Given the description of an element on the screen output the (x, y) to click on. 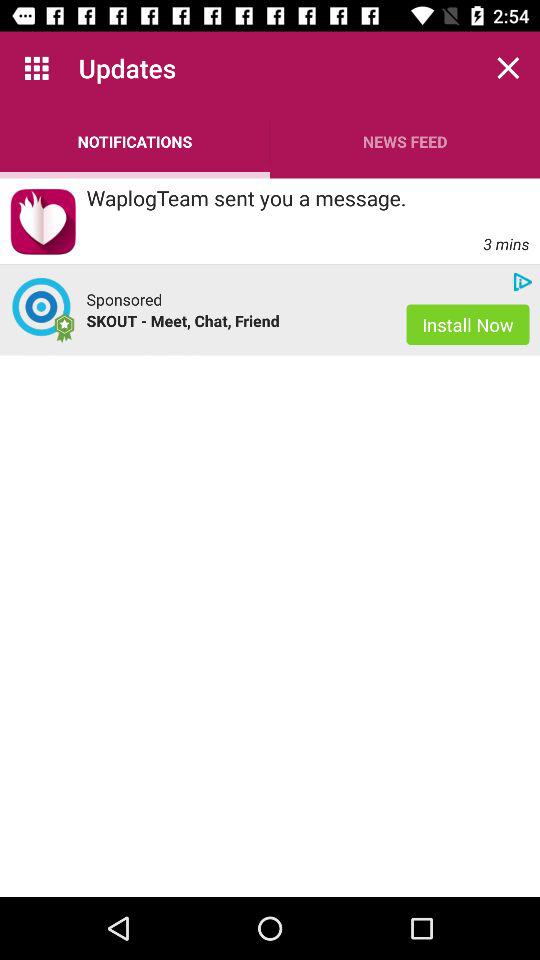
select icon next to the install now item (124, 299)
